Given the description of an element on the screen output the (x, y) to click on. 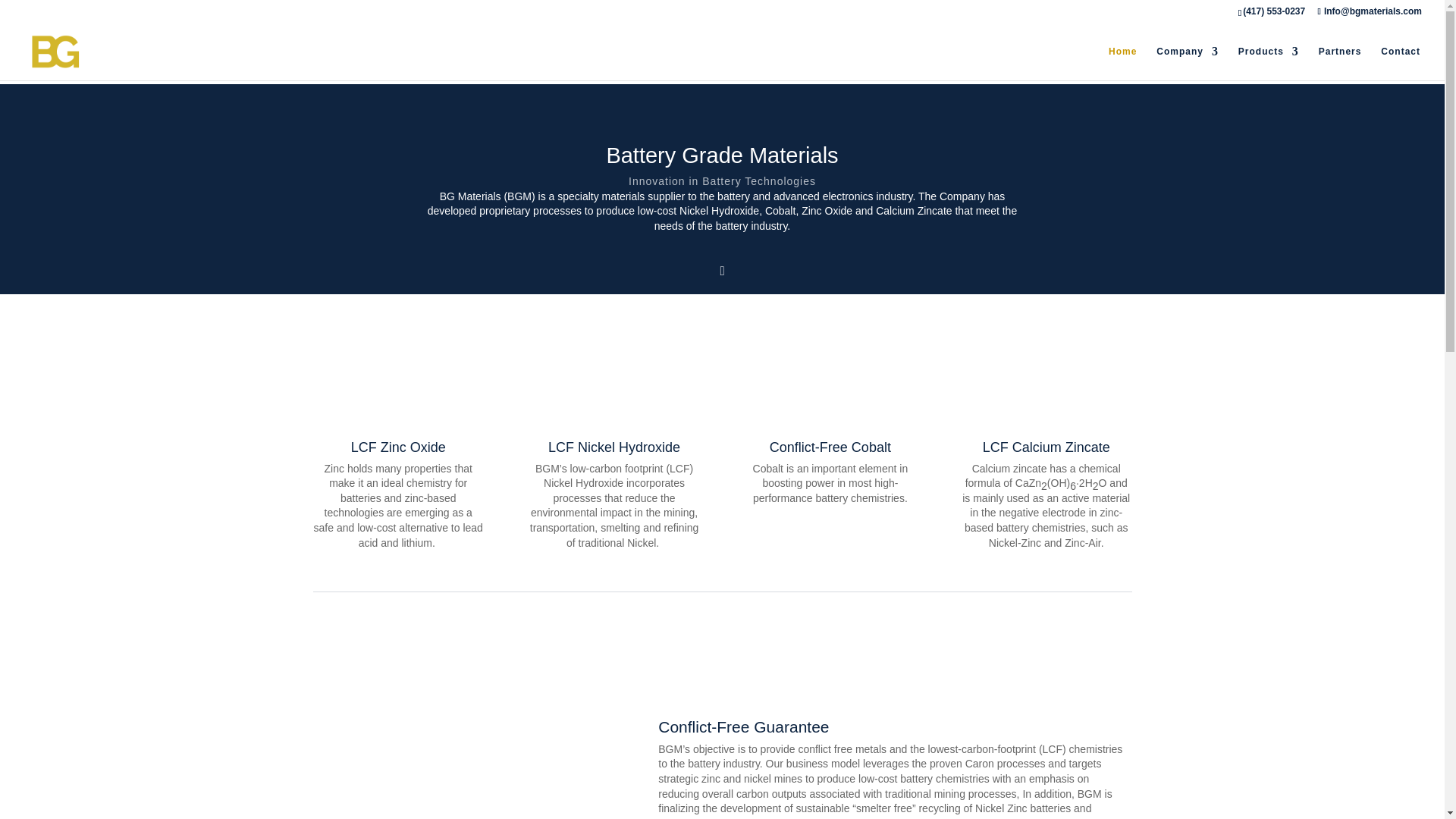
LCF Zinc Oxide (397, 447)
Contact (1400, 62)
LCF Calcium Zincate (1045, 447)
Conflict-Free Cobalt (830, 447)
LCF Nickel Hydroxide (613, 447)
Partners (1340, 62)
Company (1187, 62)
Products (1268, 62)
